Given the description of an element on the screen output the (x, y) to click on. 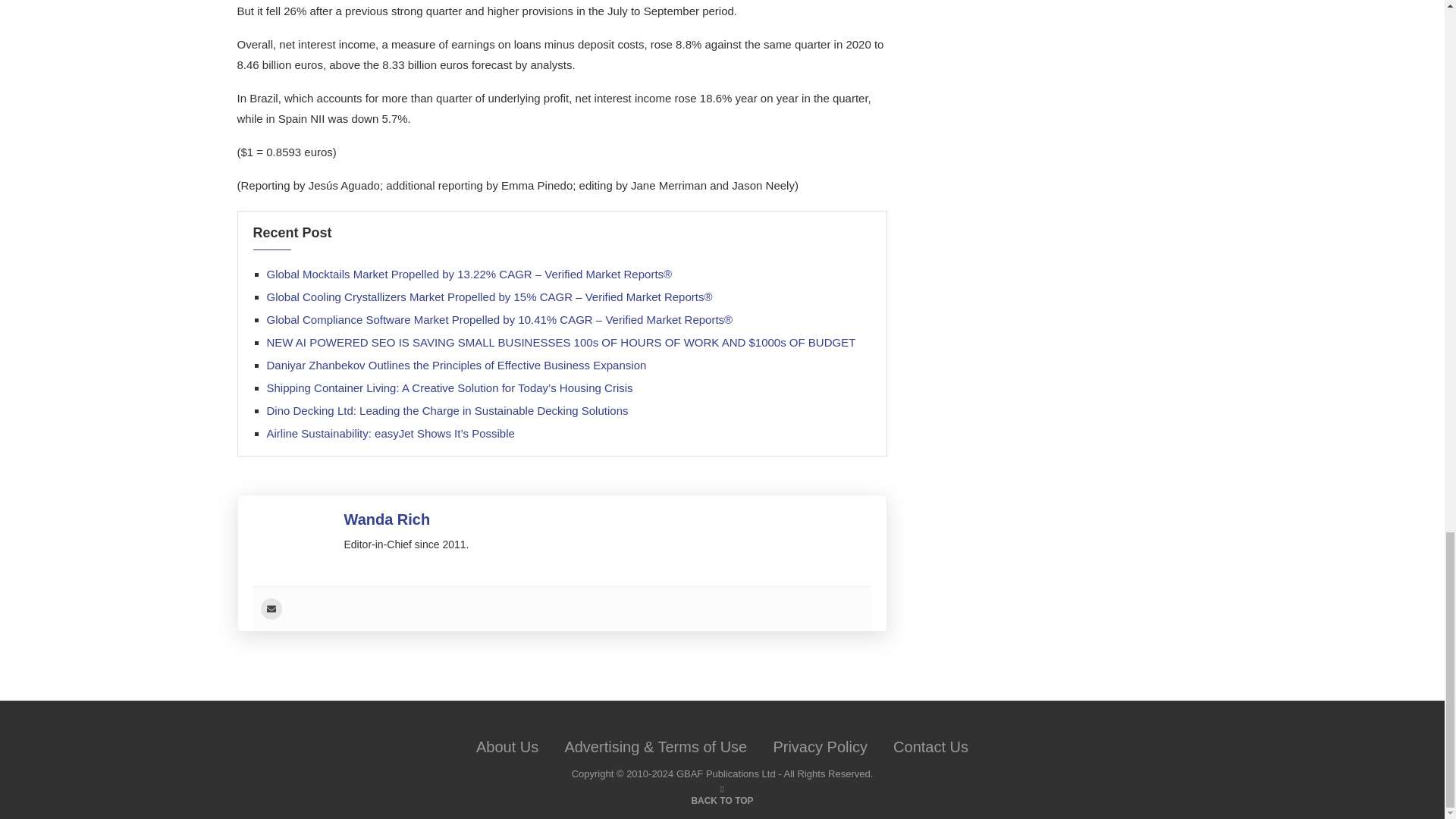
Wanda Rich (386, 519)
Privacy Policy (819, 746)
About Us (507, 746)
BACK TO TOP (721, 799)
User email (271, 608)
Contact Us (930, 746)
